Given the description of an element on the screen output the (x, y) to click on. 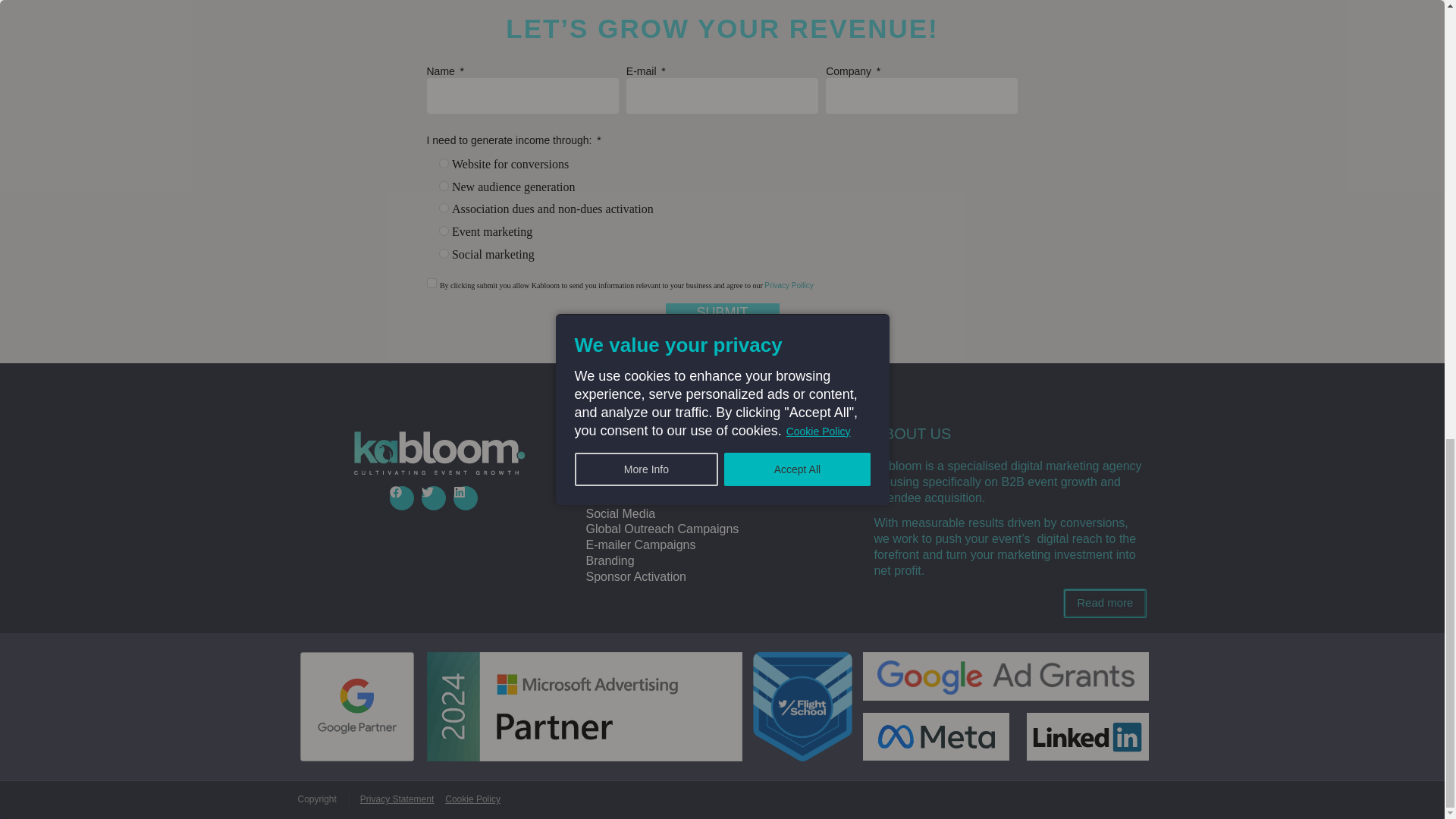
New audience generation (443, 185)
Association dues and non-dues activation (443, 207)
Event marketing (443, 230)
on (430, 283)
Website for conversions (443, 163)
Social marketing (443, 253)
